Given the description of an element on the screen output the (x, y) to click on. 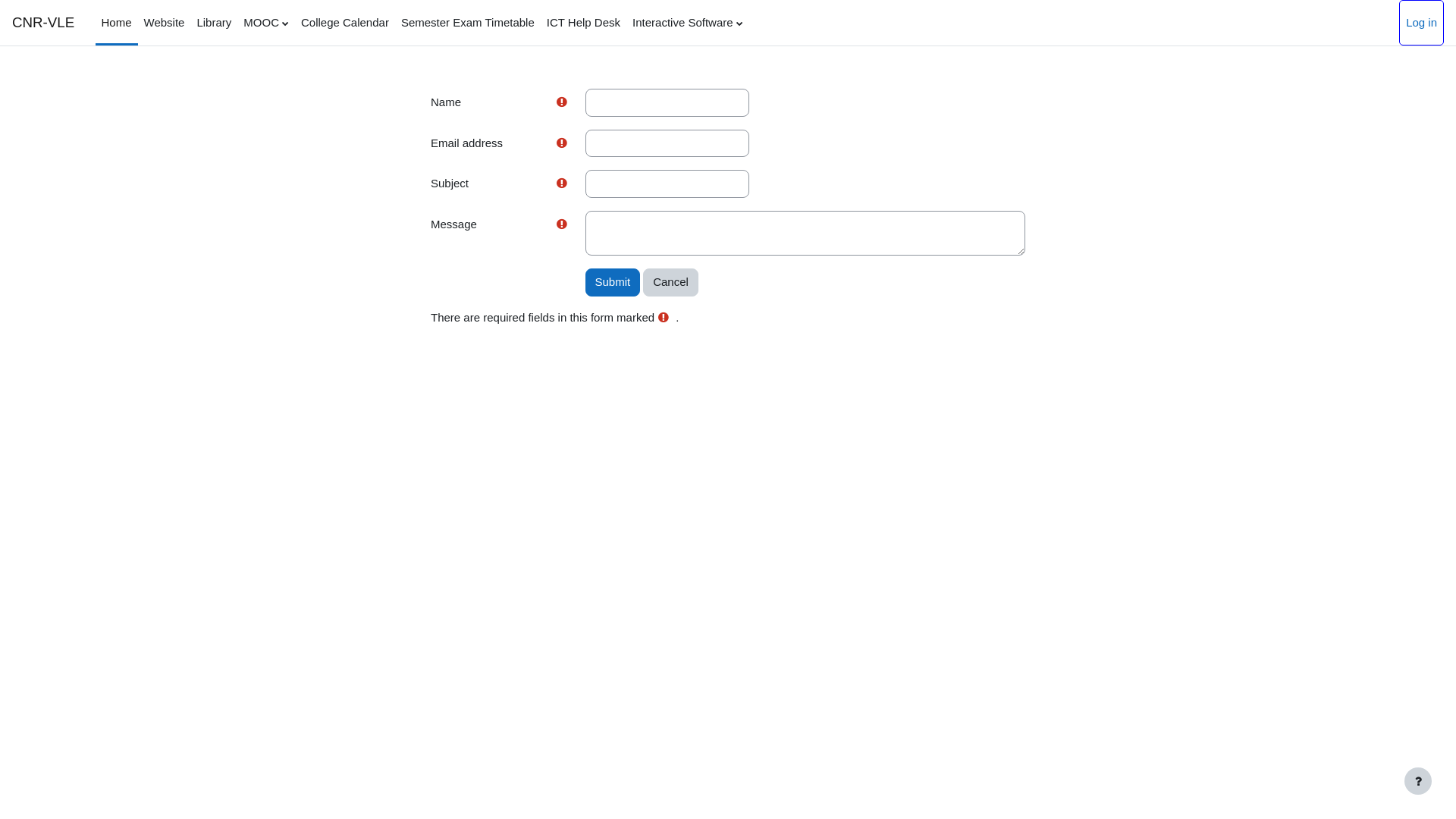
Required field Element type: hover (663, 316)
Interactive Software Element type: text (687, 22)
Home Element type: text (116, 22)
Log in Element type: text (1421, 22)
Required Element type: hover (561, 222)
College Calendar Element type: text (344, 22)
Submit Element type: text (612, 282)
Semester Exam Timetable Element type: text (467, 22)
Required Element type: hover (561, 142)
Required Element type: hover (561, 182)
Website Element type: text (164, 22)
Required Element type: hover (564, 102)
Cancel Element type: text (670, 282)
MOOC Element type: text (265, 22)
Library Element type: text (213, 22)
Required Element type: hover (561, 101)
Required Element type: hover (564, 143)
Required Element type: hover (564, 183)
ICT Help Desk Element type: text (583, 22)
CNR-VLE Element type: text (43, 22)
Required Element type: hover (564, 223)
